Given the description of an element on the screen output the (x, y) to click on. 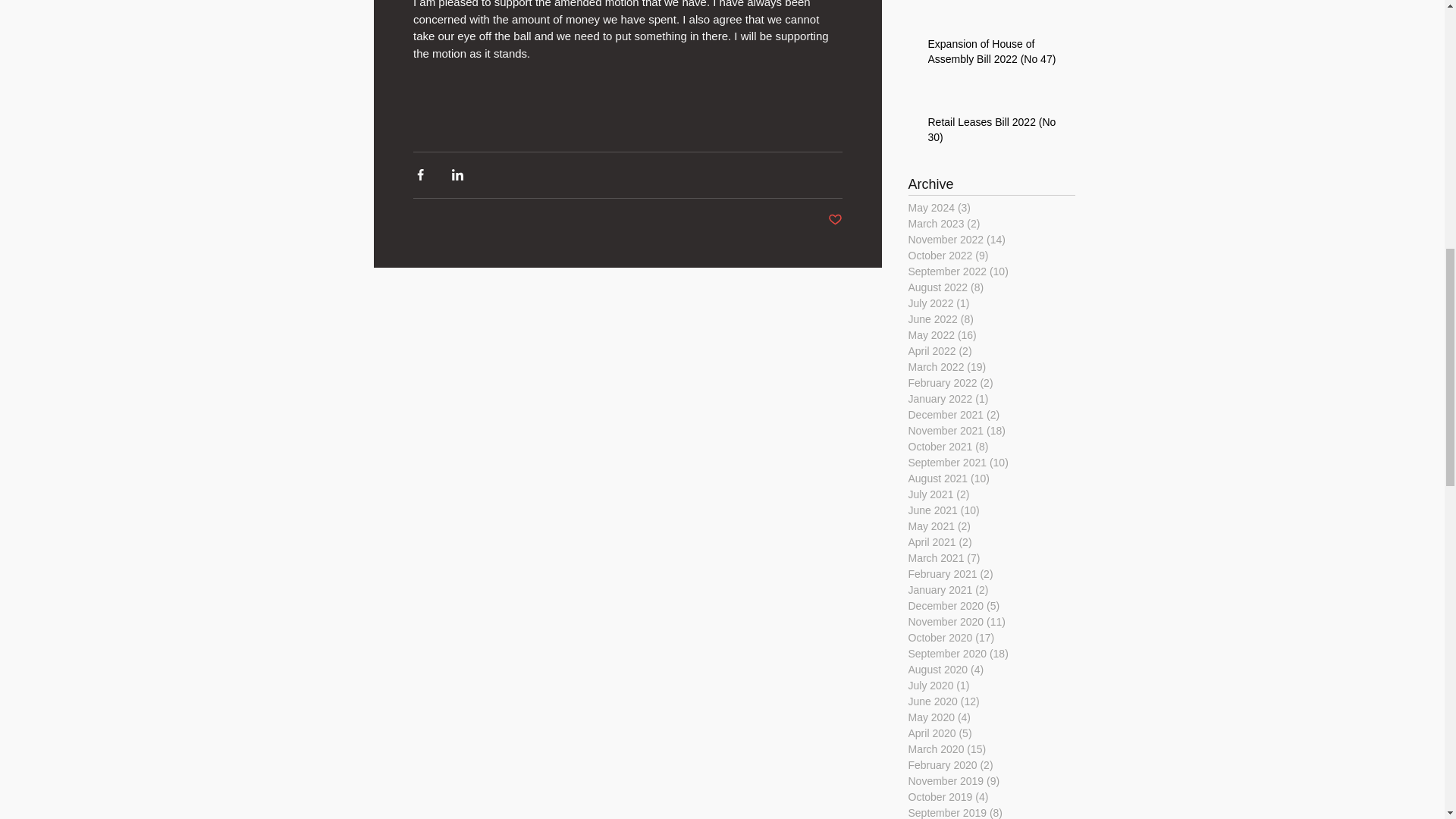
Post not marked as liked (835, 220)
Question - Tamar River - Abandoned and Sunken vessels (996, 4)
